Given the description of an element on the screen output the (x, y) to click on. 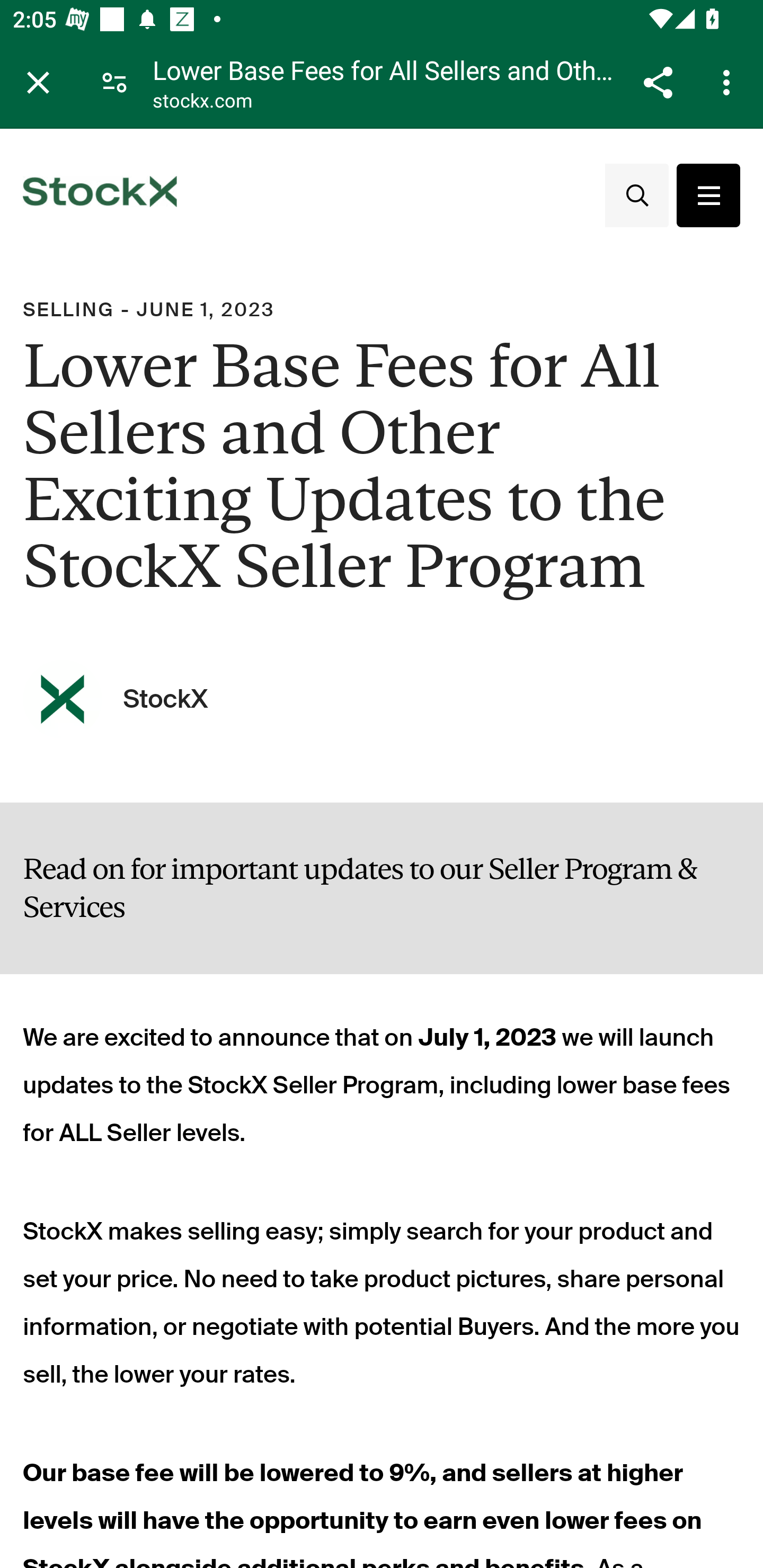
Close tab (38, 82)
Share (657, 82)
Customize and control Google Chrome (729, 82)
Connection is secure (114, 81)
stockx.com (202, 103)
stockx (99, 195)
 (636, 195)
 (707, 195)
SELLING (68, 310)
StockX (165, 698)
